Given the description of an element on the screen output the (x, y) to click on. 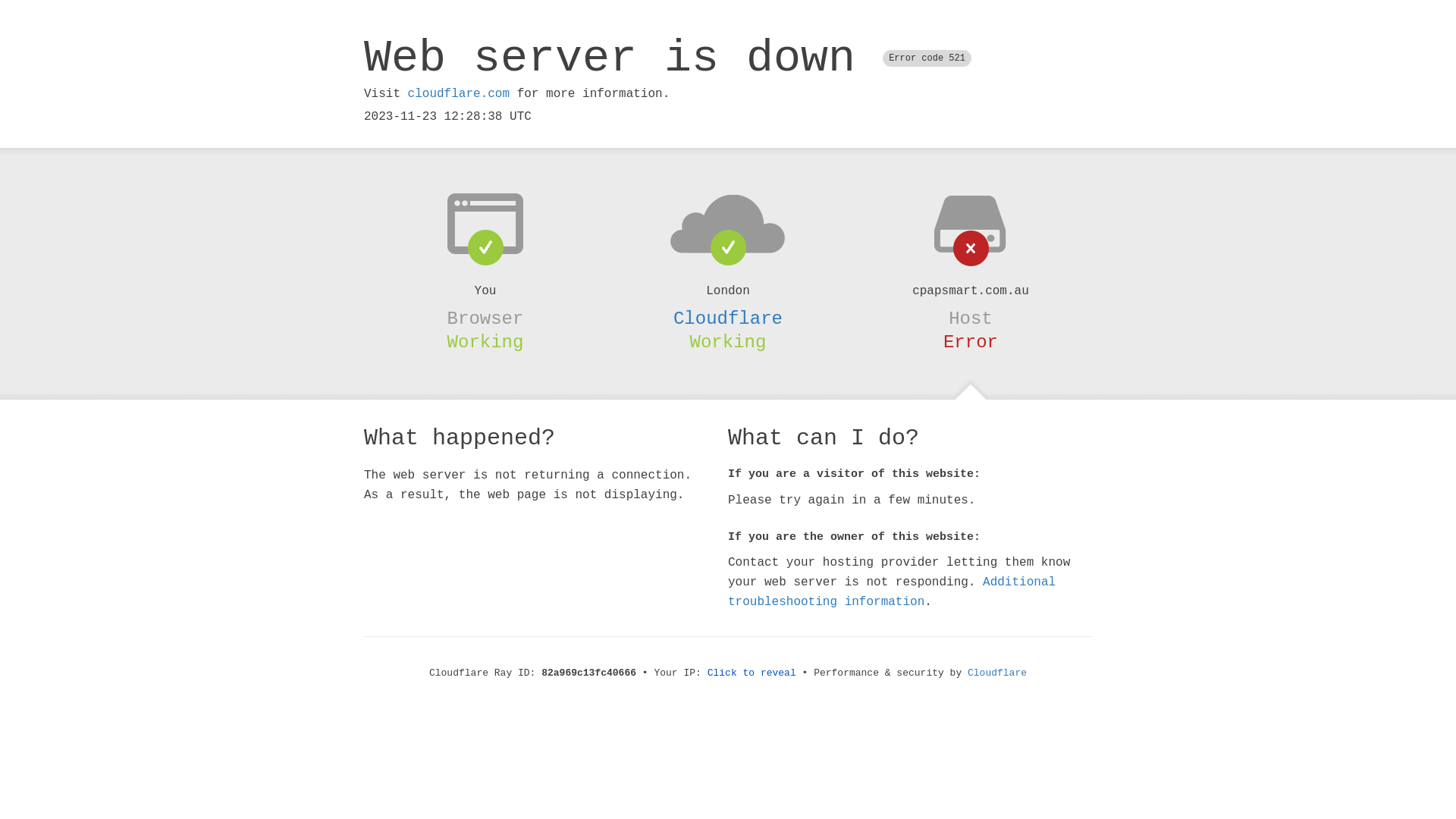
cloudflare.com Element type: text (458, 93)
Click to reveal Element type: text (751, 672)
Cloudflare Element type: text (727, 318)
Additional troubleshooting information Element type: text (891, 591)
Cloudflare Element type: text (996, 672)
